Given the description of an element on the screen output the (x, y) to click on. 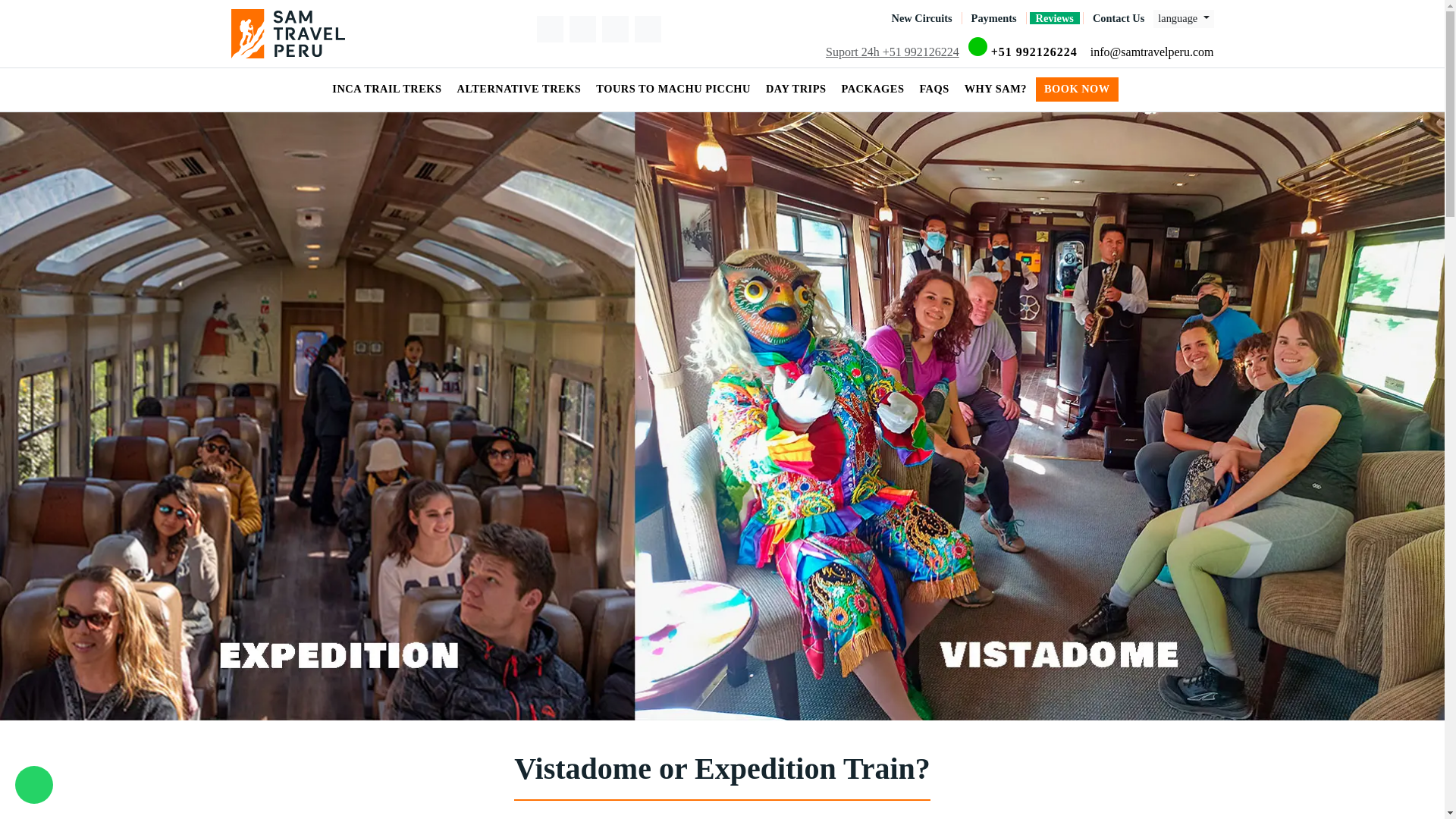
Reviews (1054, 18)
whatsapp (33, 784)
ALTERNATIVE TREKS (521, 89)
Facebook (550, 28)
INCA TRAIL TREKS (387, 89)
Whatsapp (1024, 51)
language (1182, 18)
New Circuits (921, 18)
Contact Us (1118, 18)
Payments (994, 18)
